Given the description of an element on the screen output the (x, y) to click on. 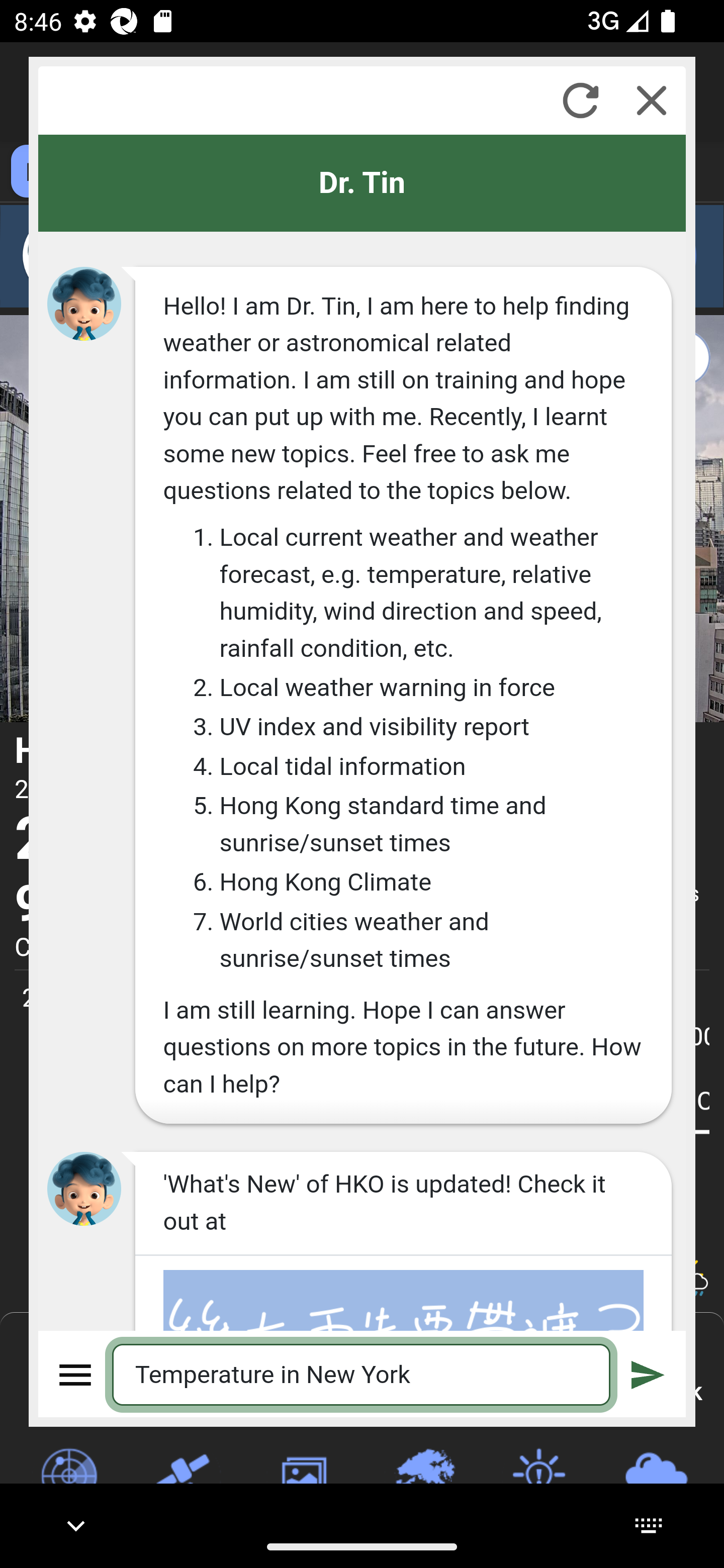
Refresh (580, 100)
Close (651, 100)
Menu (75, 1374)
Submit (648, 1374)
Temperature in New York (361, 1374)
